Given the description of an element on the screen output the (x, y) to click on. 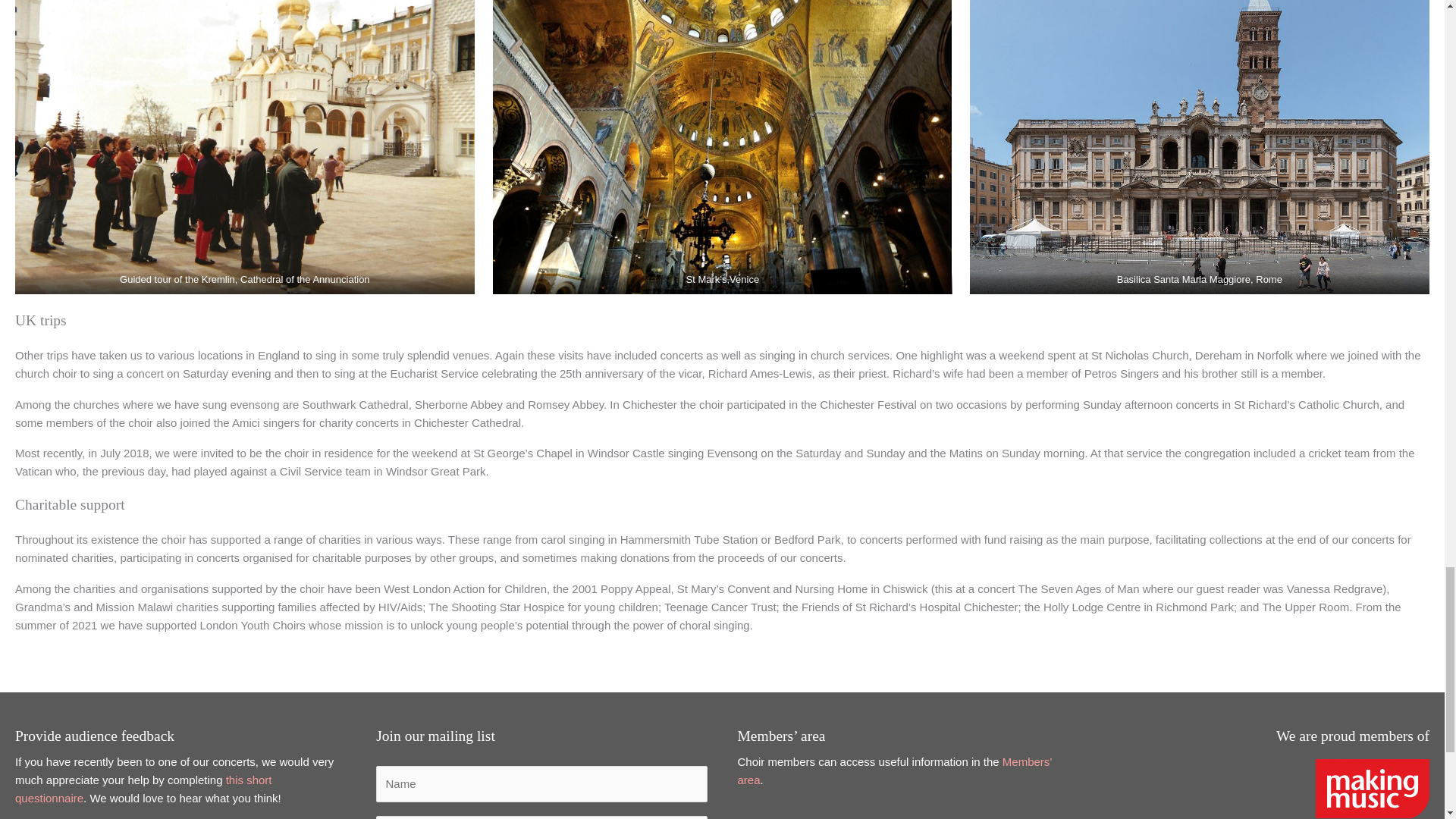
this short questionnaire (143, 788)
